Given the description of an element on the screen output the (x, y) to click on. 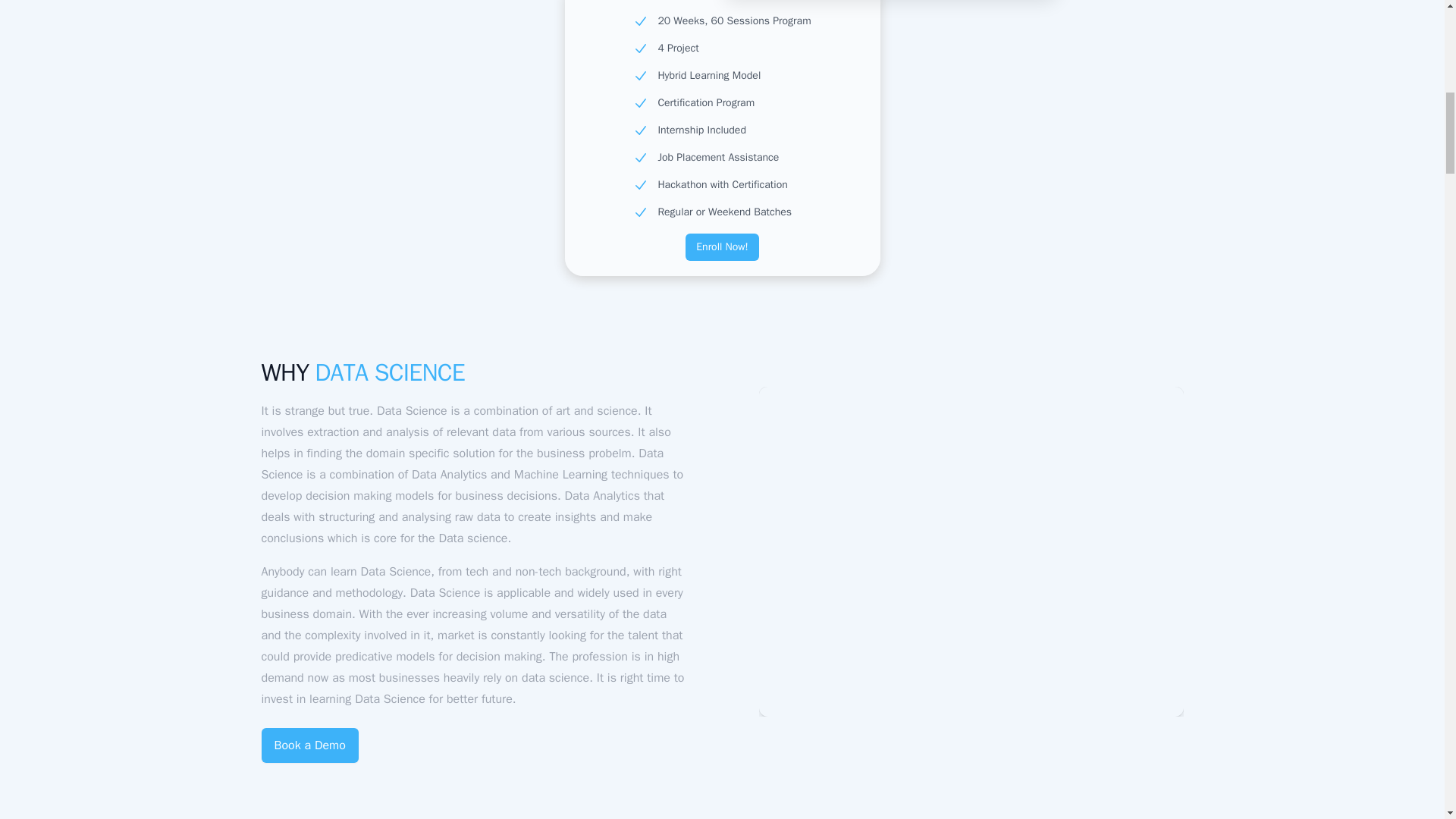
Book a Demo (309, 745)
Enroll Now! (721, 247)
